Given the description of an element on the screen output the (x, y) to click on. 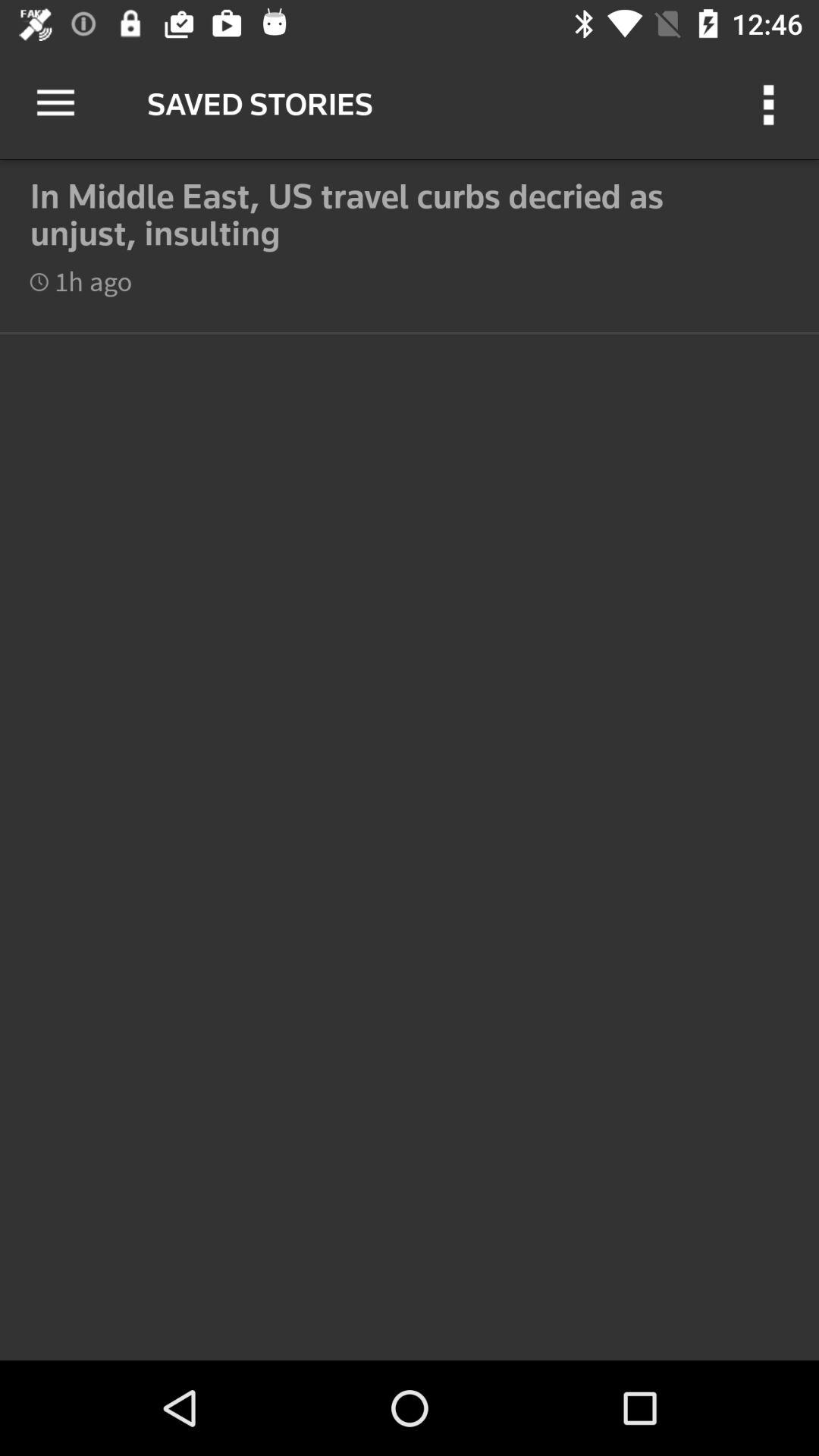
choose icon to the right of saved stories item (771, 103)
